Given the description of an element on the screen output the (x, y) to click on. 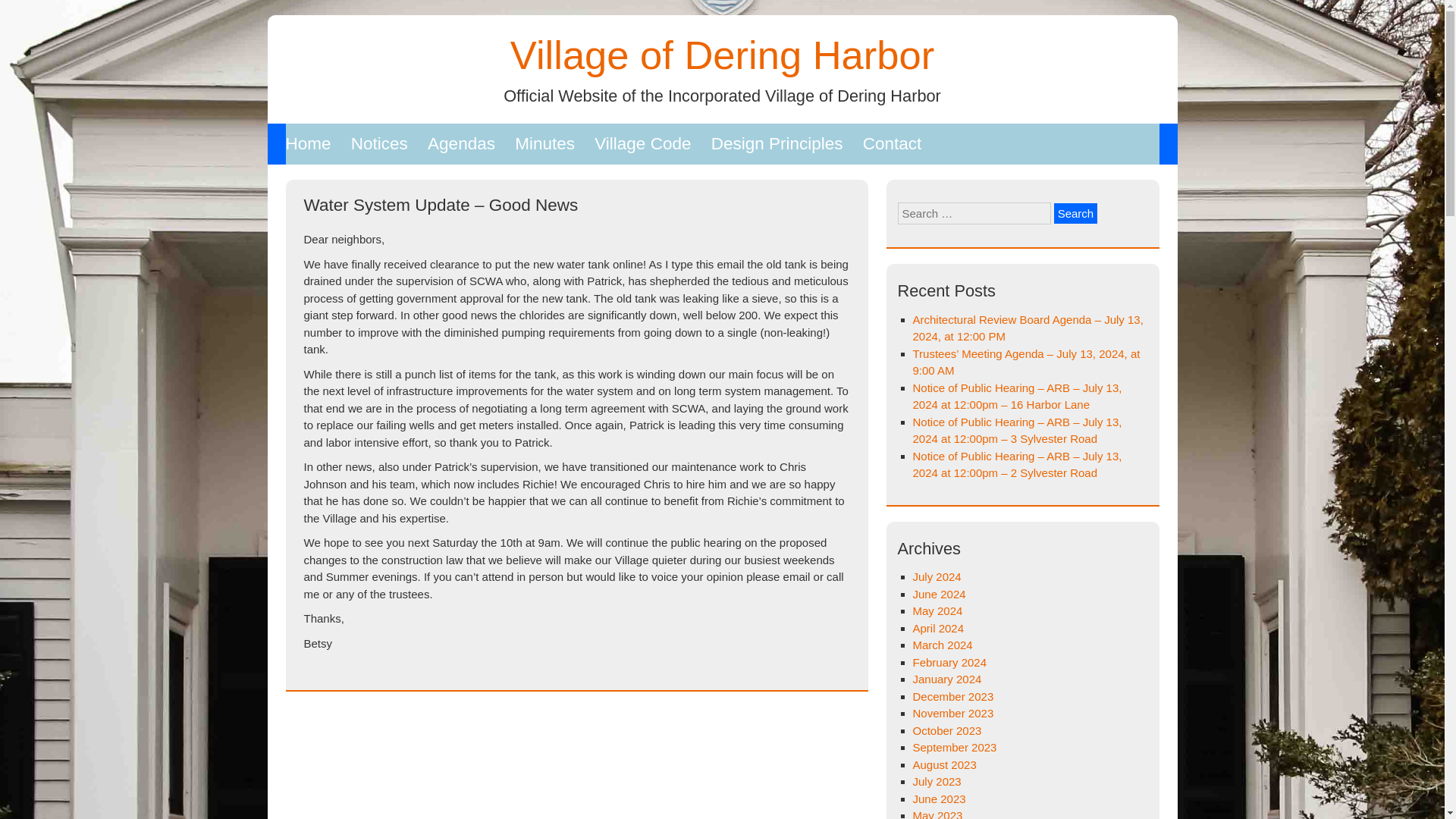
December 2023 (953, 696)
October 2023 (946, 730)
July 2023 (936, 780)
July 2024 (936, 576)
August 2023 (944, 764)
March 2024 (942, 644)
June 2024 (939, 594)
June 2023 (939, 798)
Search (1075, 213)
Home (307, 143)
